Given the description of an element on the screen output the (x, y) to click on. 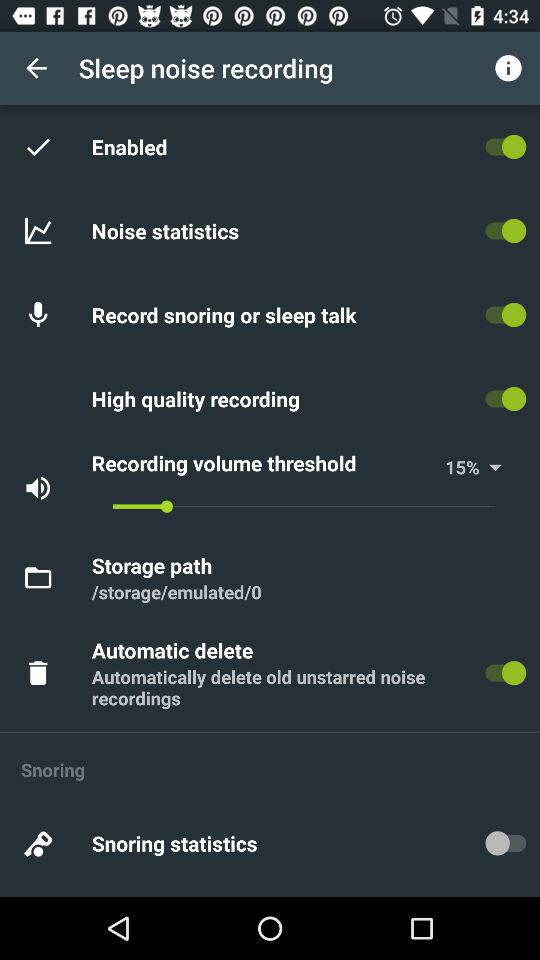
select the item above the record snoring or item (168, 230)
